Given the description of an element on the screen output the (x, y) to click on. 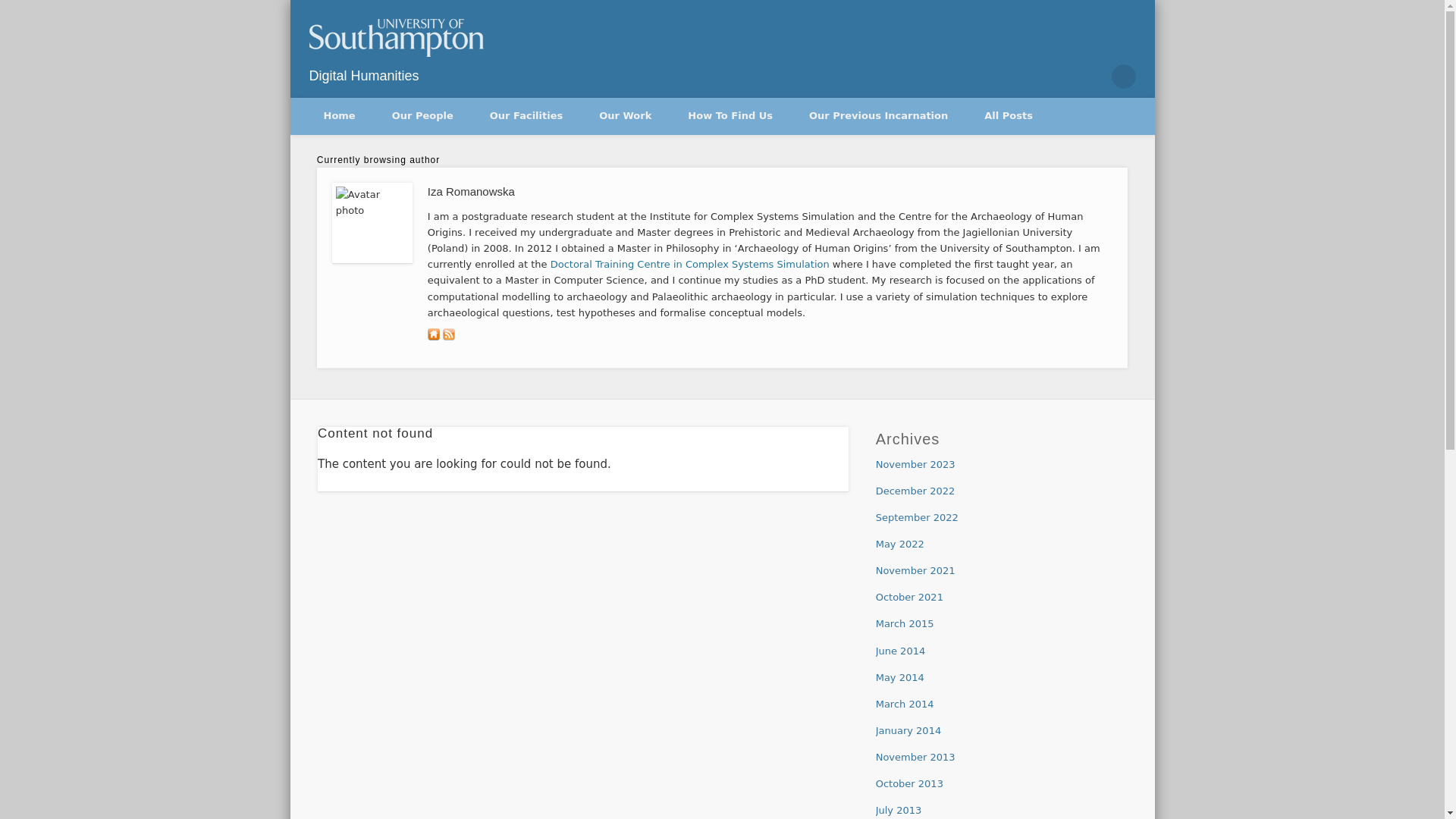
May 2022 (900, 543)
November 2023 (915, 464)
October 2021 (909, 596)
July 2013 (898, 809)
Search (11, 7)
November 2013 (915, 756)
March 2014 (905, 704)
All Posts (1008, 115)
How To Find Us (729, 115)
Home (338, 115)
March 2015 (905, 623)
November 2021 (915, 570)
Our Work (624, 115)
May 2014 (900, 677)
January 2014 (909, 730)
